Given the description of an element on the screen output the (x, y) to click on. 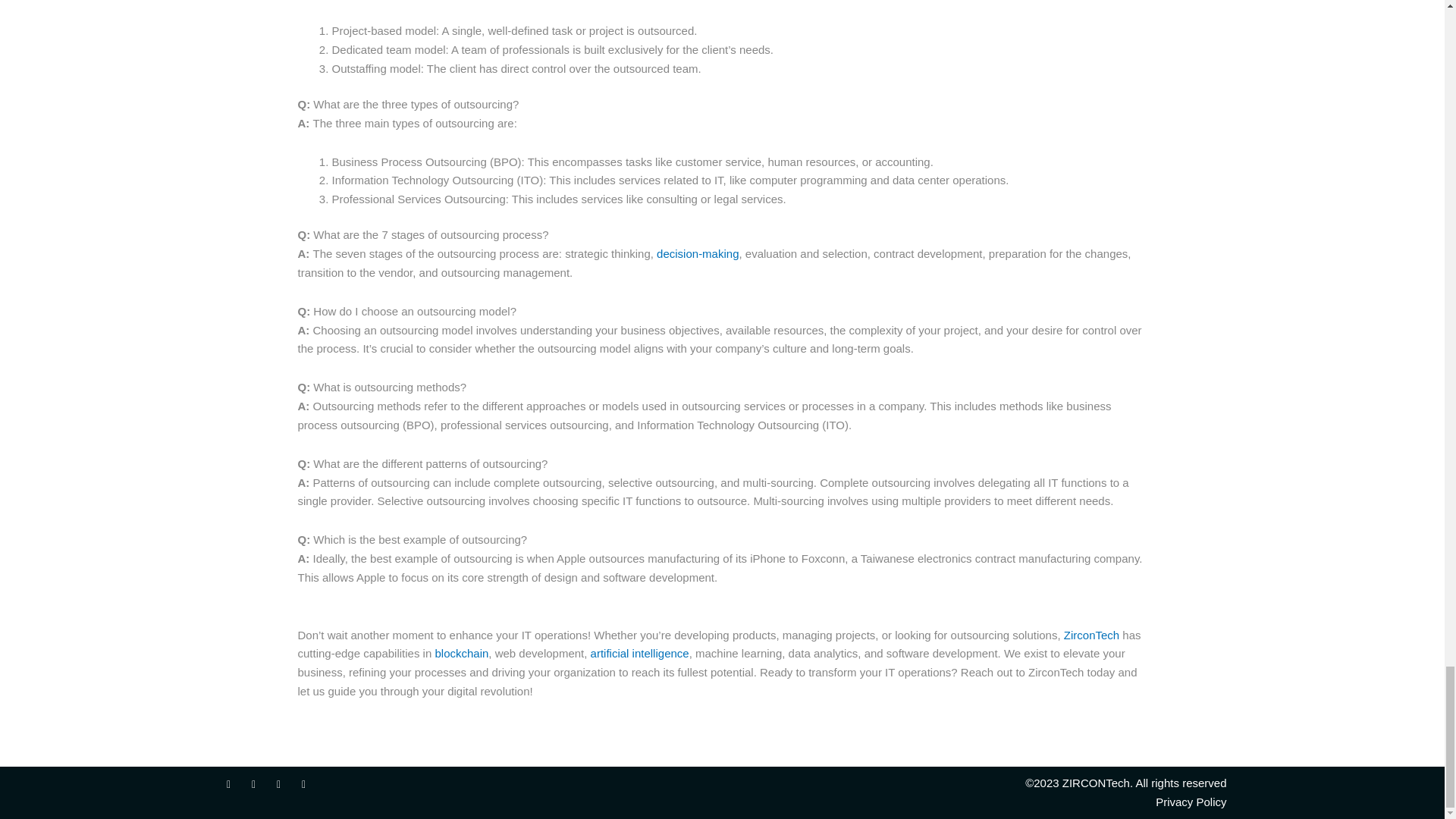
blockchain (460, 653)
Privacy Policy (977, 802)
ZirconTech (1091, 634)
Instagram (278, 784)
decision-making (697, 253)
Linkedin (303, 784)
Facebook (229, 784)
Twitter (253, 784)
artificial intelligence (639, 653)
